Given the description of an element on the screen output the (x, y) to click on. 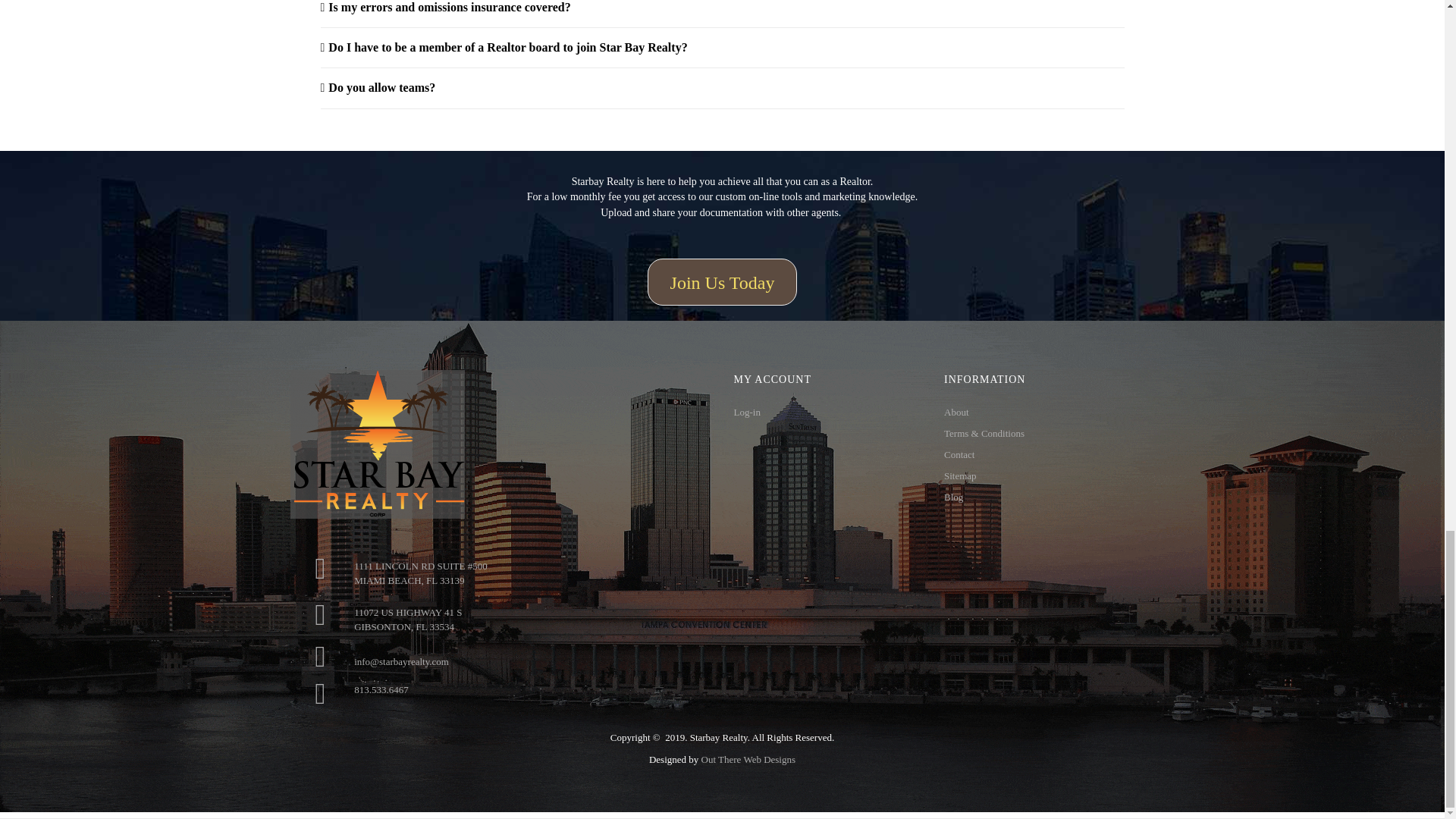
Starbay Realty (376, 444)
